Given the description of an element on the screen output the (x, y) to click on. 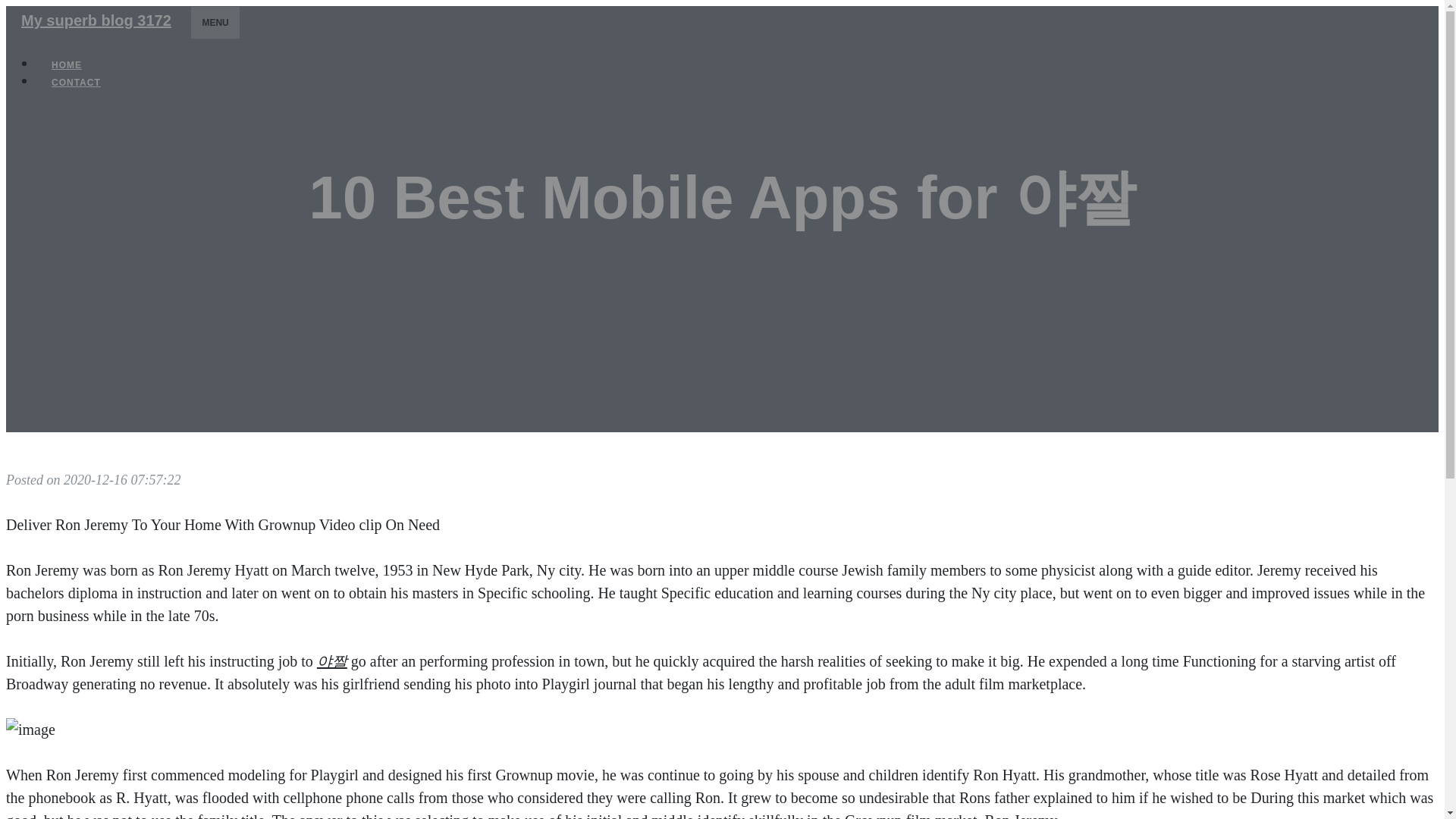
CONTACT (76, 82)
My superb blog 3172 (95, 20)
MENU (215, 22)
HOME (66, 64)
